Given the description of an element on the screen output the (x, y) to click on. 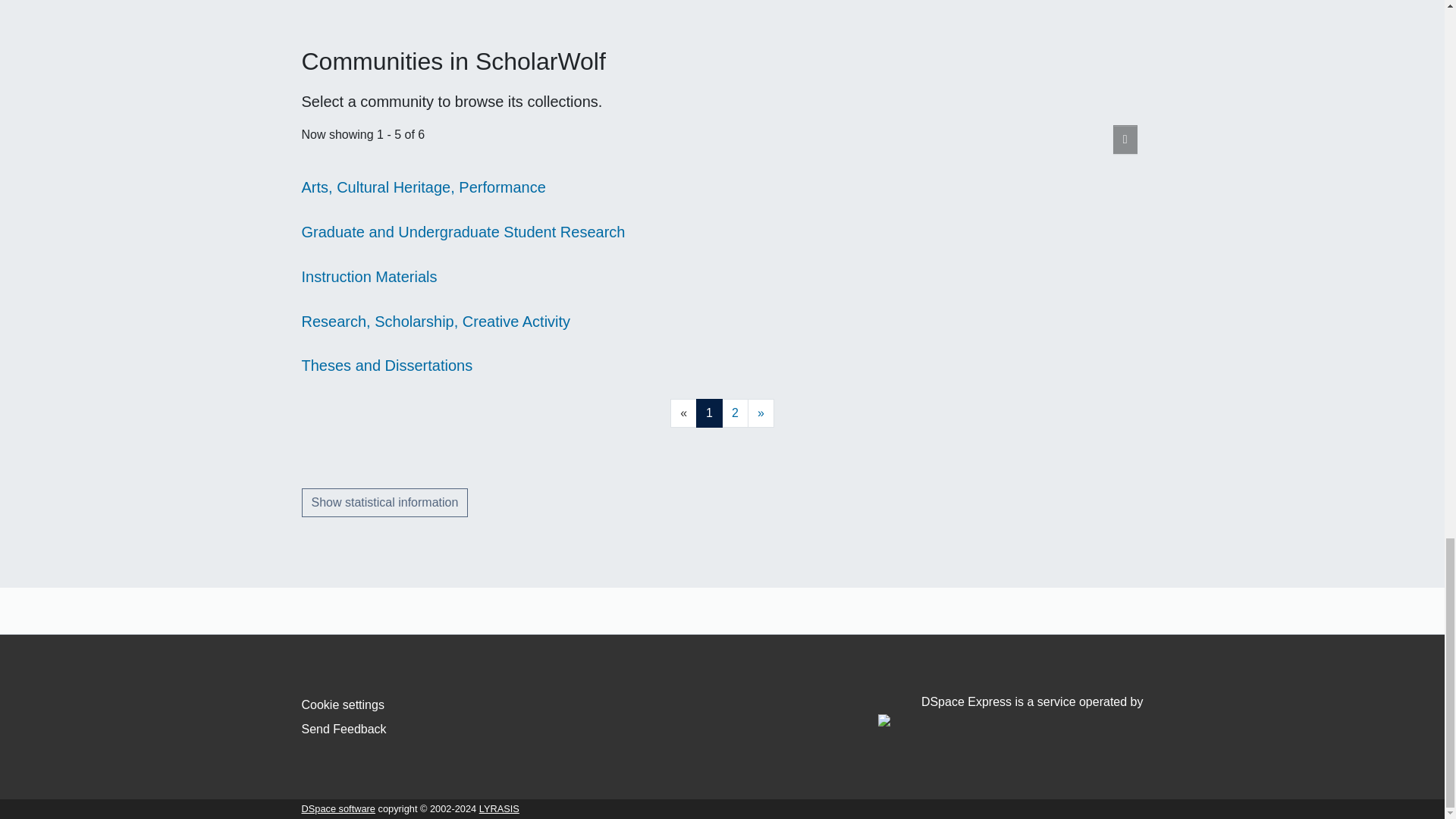
Instruction Materials (369, 276)
Theses and Dissertations (387, 365)
Graduate and Undergraduate Student Research (463, 231)
Arts, Cultural Heritage, Performance (423, 187)
Research, Scholarship, Creative Activity (435, 321)
